Given the description of an element on the screen output the (x, y) to click on. 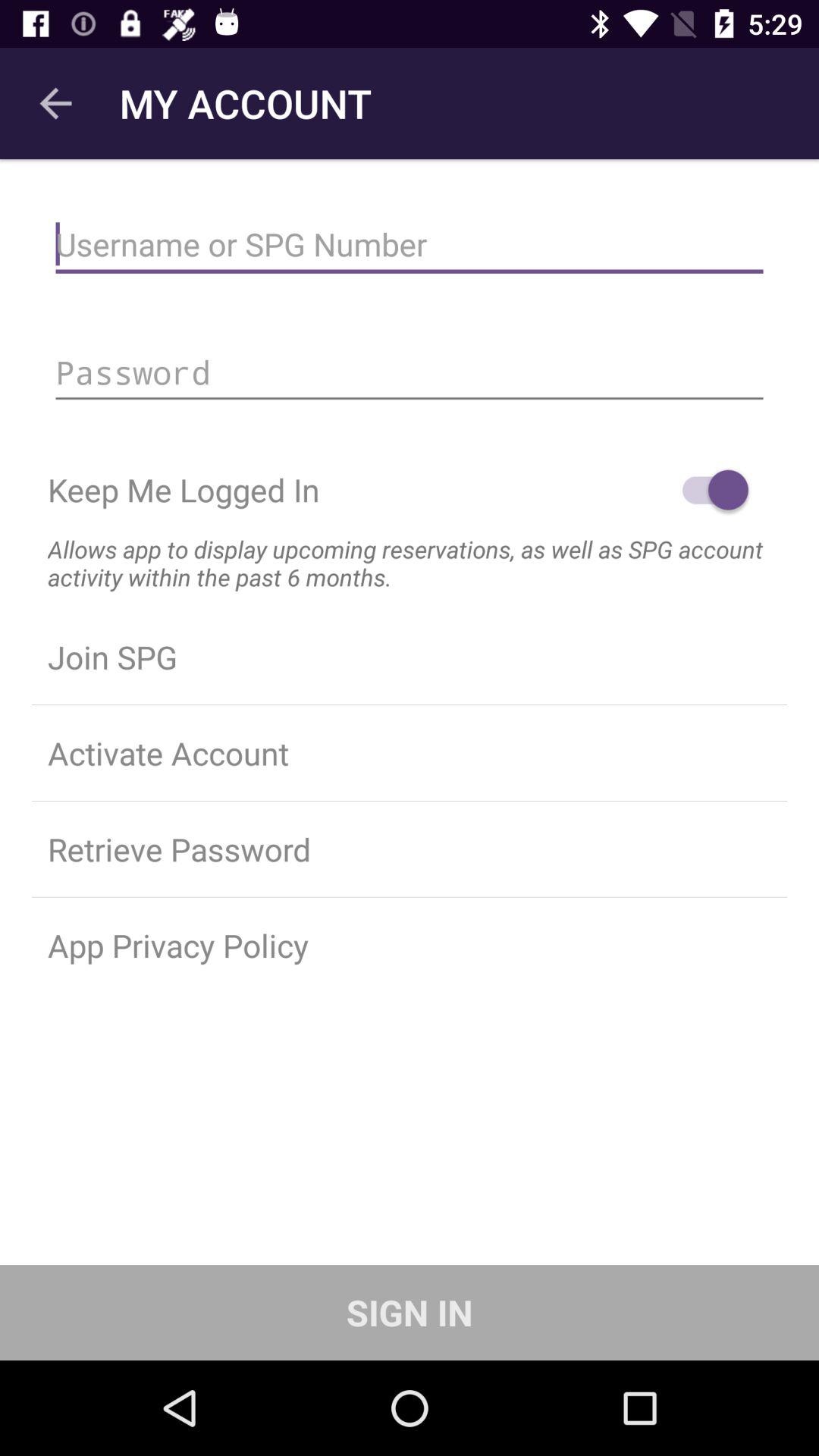
enter username (409, 244)
